Given the description of an element on the screen output the (x, y) to click on. 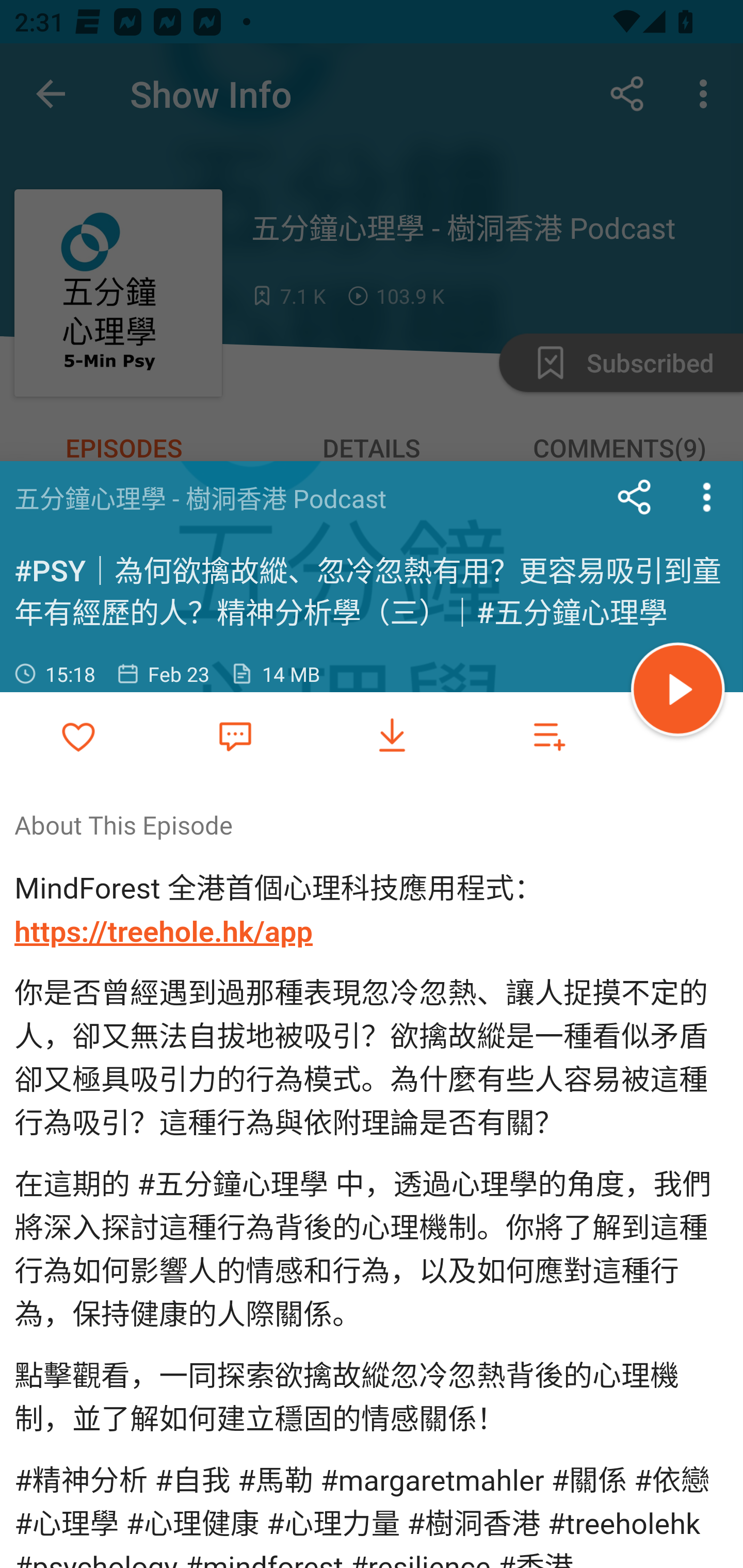
Share (634, 496)
more options (706, 496)
Play (677, 692)
Favorite (234, 735)
Add to Favorites (78, 735)
Download (391, 735)
Add to playlist (548, 735)
https://treehole.hk/app (164, 932)
